Given the description of an element on the screen output the (x, y) to click on. 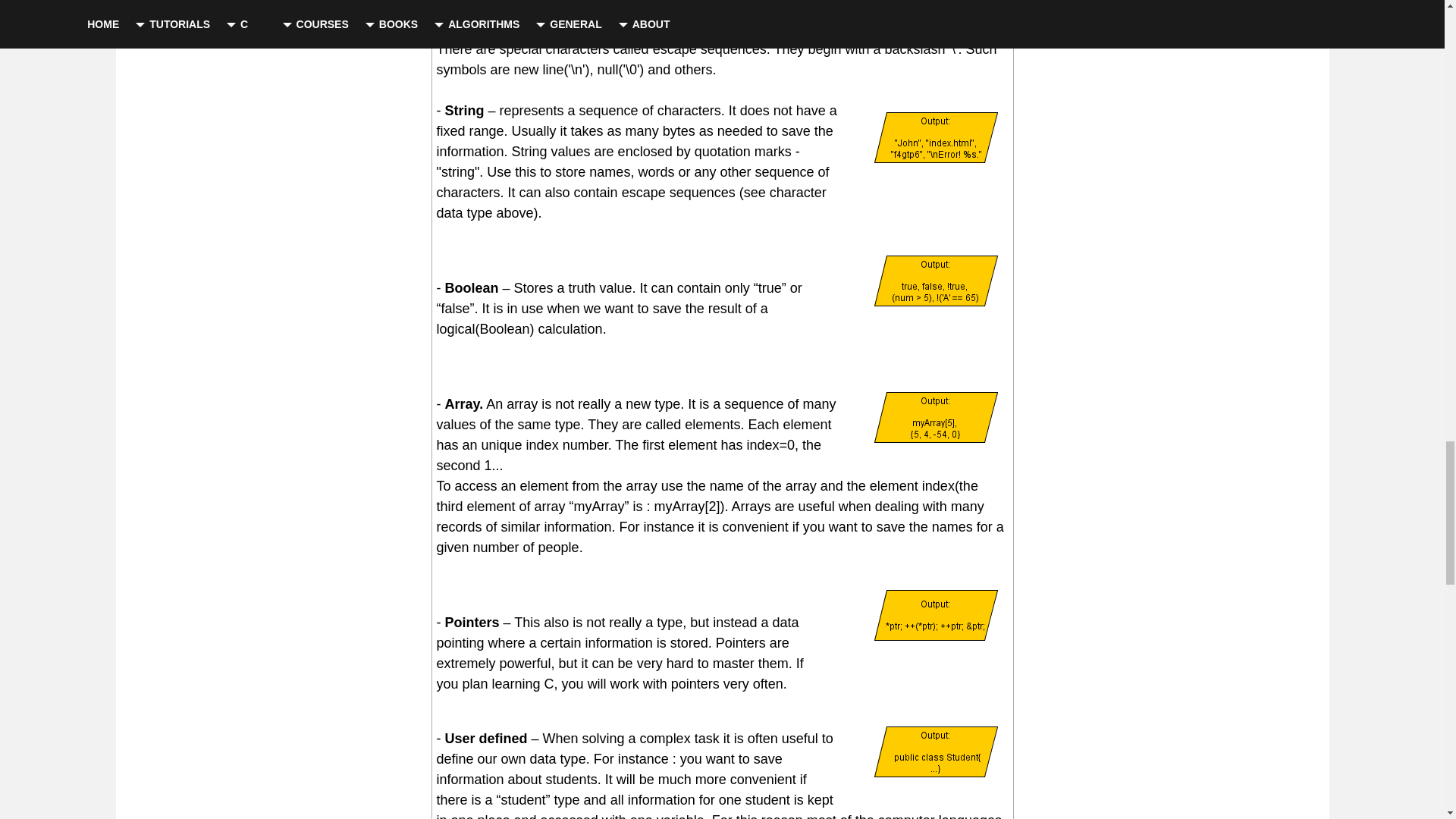
Example of array data type. (936, 416)
Example of user defined data type. (936, 750)
Examples of boolean data type. (936, 280)
Examples of string data type. (936, 136)
